Given the description of an element on the screen output the (x, y) to click on. 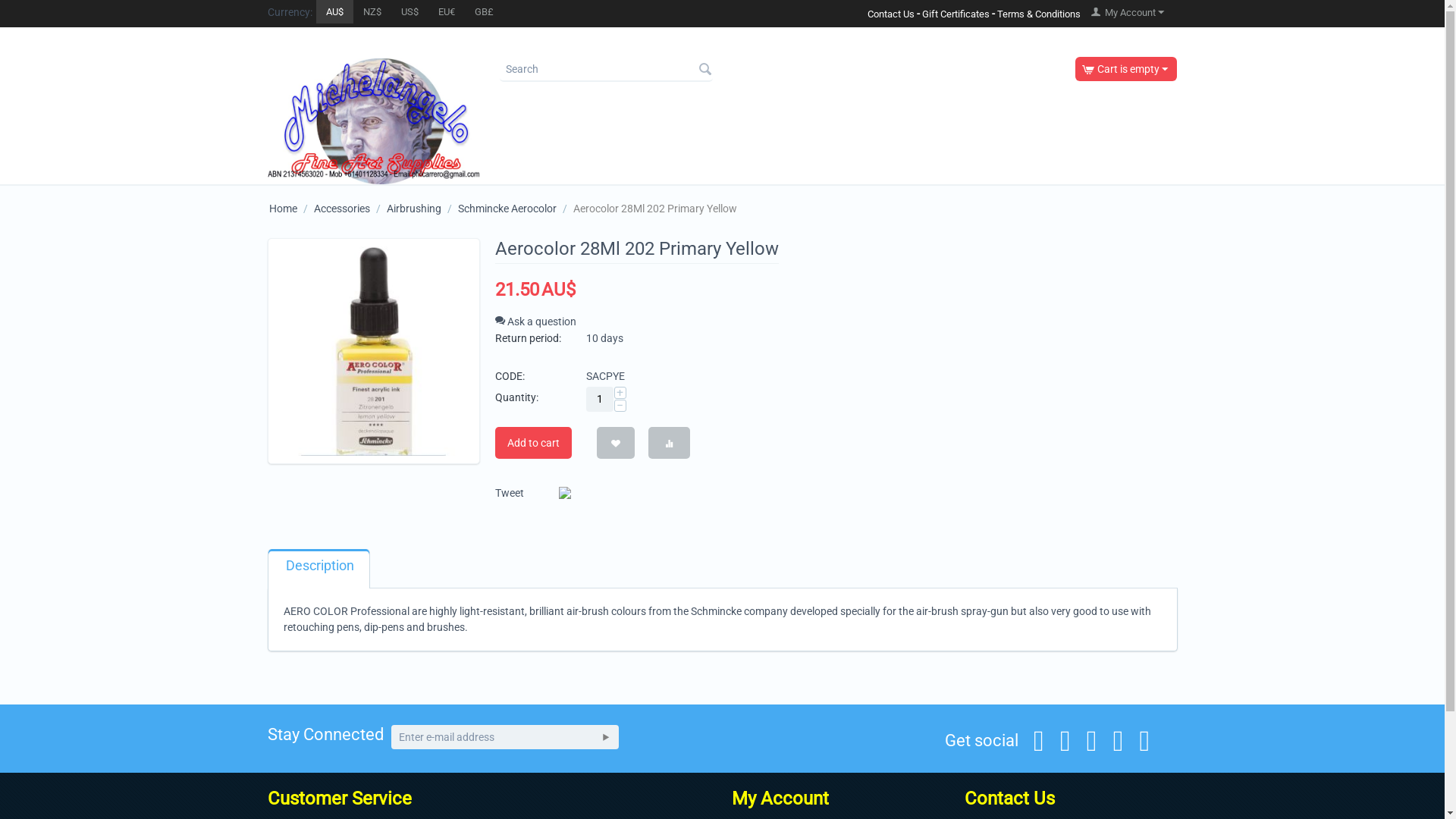
Description Element type: text (318, 566)
Michelangelo* Fine Art Supplies Element type: hover (373, 120)
Tweet Element type: text (508, 492)
Search Element type: hover (704, 70)
Accessories Element type: text (341, 208)
AU$ Element type: text (333, 11)
Airbrushing Element type: text (413, 208)
+ Element type: text (620, 392)
Cart is empty Element type: text (1124, 68)
US$ Element type: text (409, 11)
Add to cart Element type: text (532, 442)
Michelangelo* Fine Art Supplies Element type: hover (373, 121)
Add to comparison list Element type: hover (668, 442)
NZ$ Element type: text (372, 11)
Home Element type: text (282, 208)
Add to wishlist Element type: hover (614, 442)
Go Element type: hover (605, 736)
Terms & Conditions Element type: text (1038, 13)
Schmincke Aerocolor Element type: text (507, 208)
  My Account Element type: text (1127, 12)
Search Element type: hover (605, 68)
Ask a question Element type: text (534, 321)
Gift Certificates Element type: text (955, 13)
Contact Us Element type: text (890, 13)
